Given the description of an element on the screen output the (x, y) to click on. 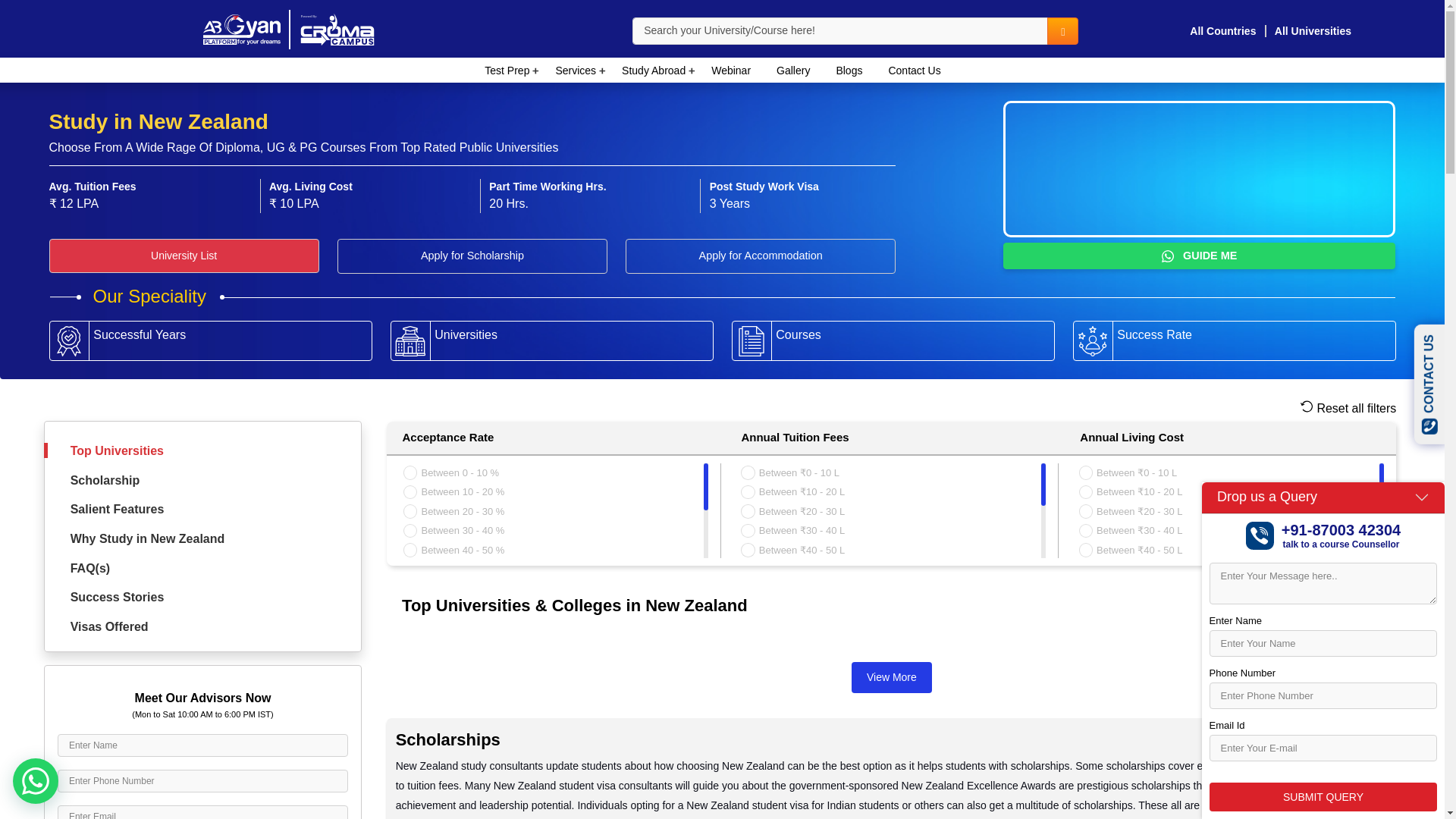
30-40 (409, 530)
Contact Us (914, 70)
0-10 (409, 472)
All Universities (1312, 30)
0-10 (747, 472)
20-30 (409, 510)
40-50 (409, 549)
University List (183, 255)
10-20 (409, 491)
